Given the description of an element on the screen output the (x, y) to click on. 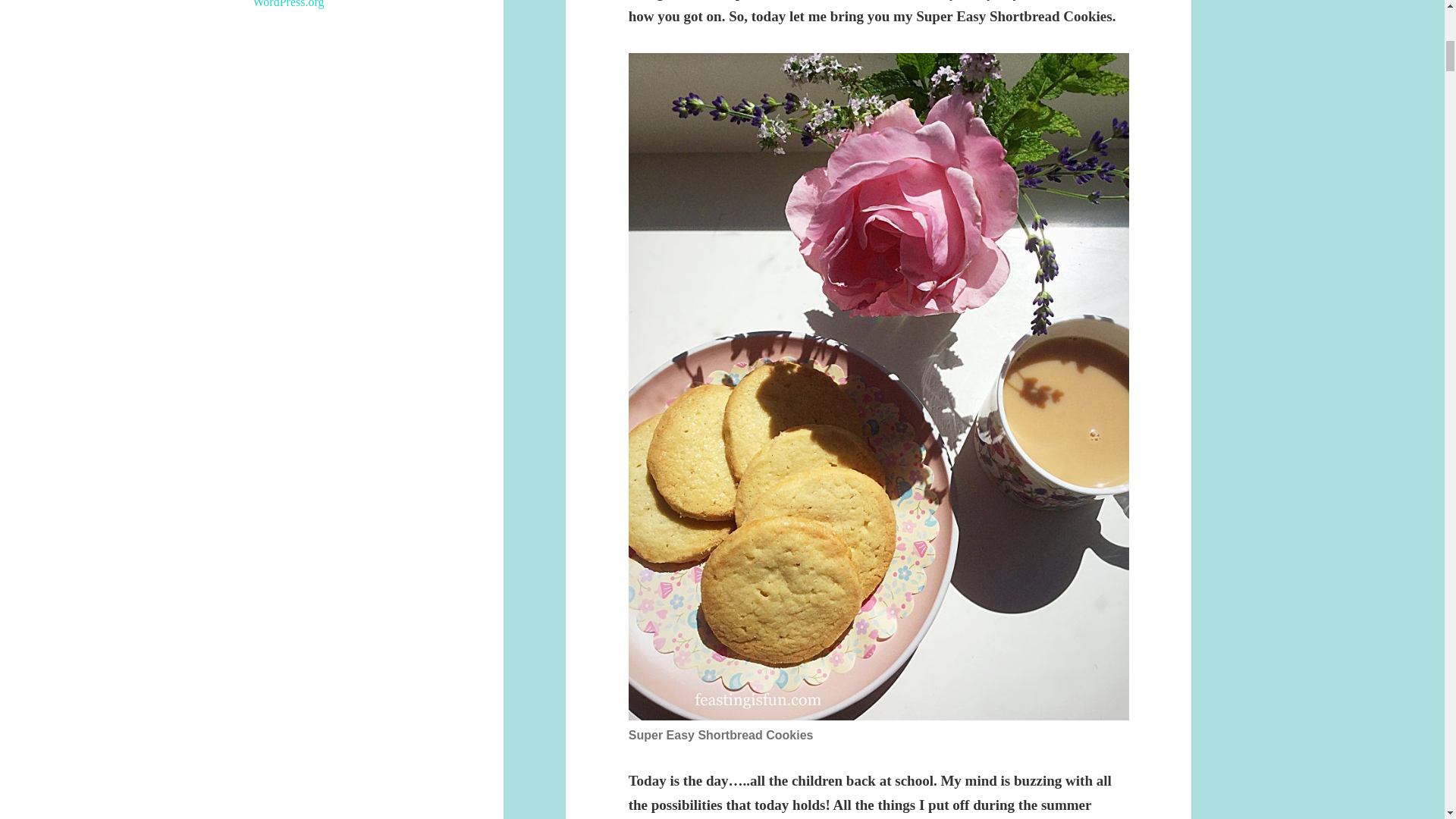
WordPress.org (288, 4)
